Given the description of an element on the screen output the (x, y) to click on. 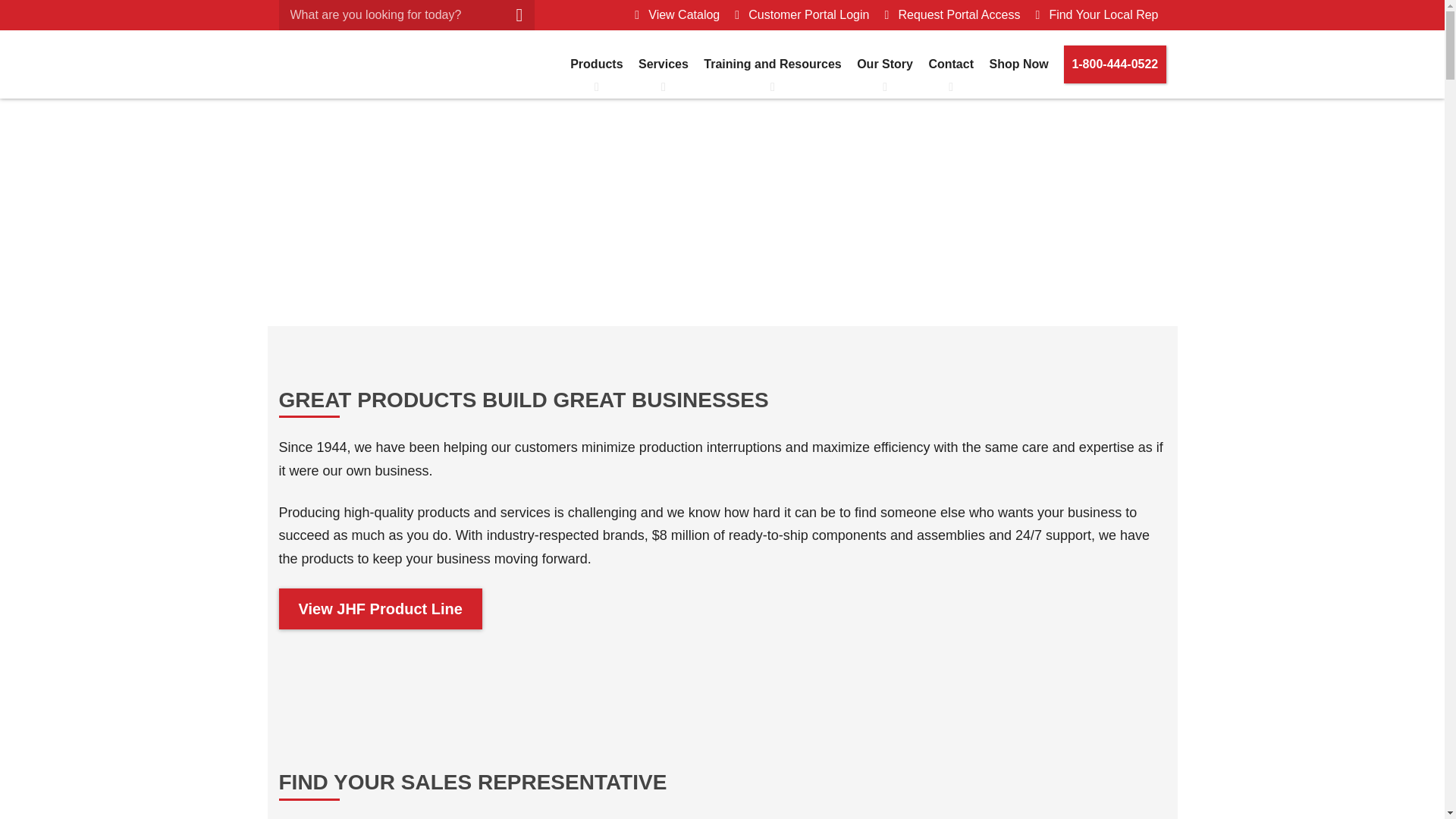
Find Your Local Rep (1096, 15)
Training and Resources (771, 64)
Services (662, 64)
Search (15, 15)
Request Portal Access (951, 15)
View Catalog (676, 15)
Customer Portal Login (801, 15)
Products (596, 64)
